Given the description of an element on the screen output the (x, y) to click on. 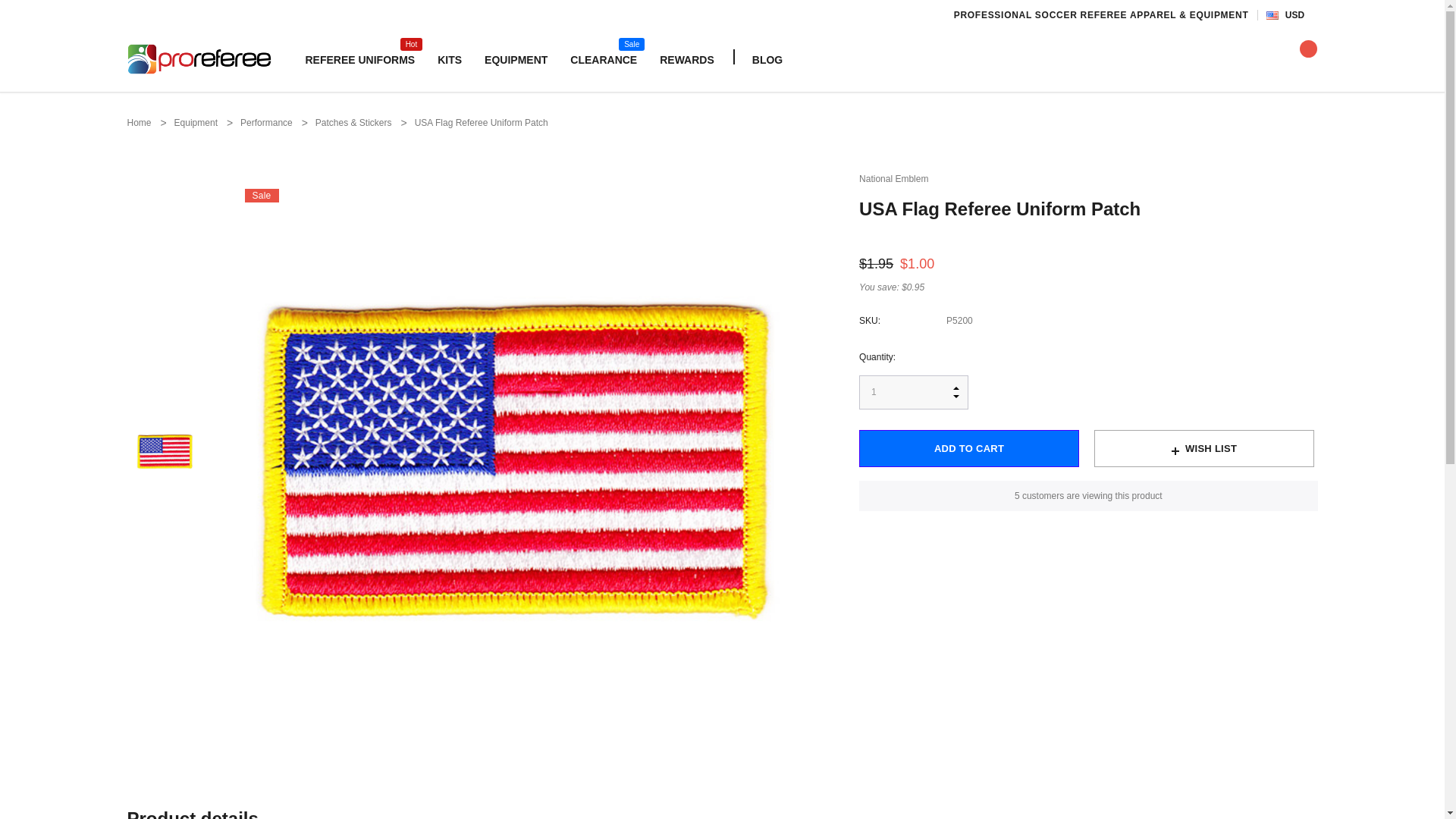
Add to Cart (359, 59)
USA Flag Referee Uniform Patch (968, 447)
1 (164, 451)
EQUIPMENT (913, 392)
USD (515, 59)
